Given the description of an element on the screen output the (x, y) to click on. 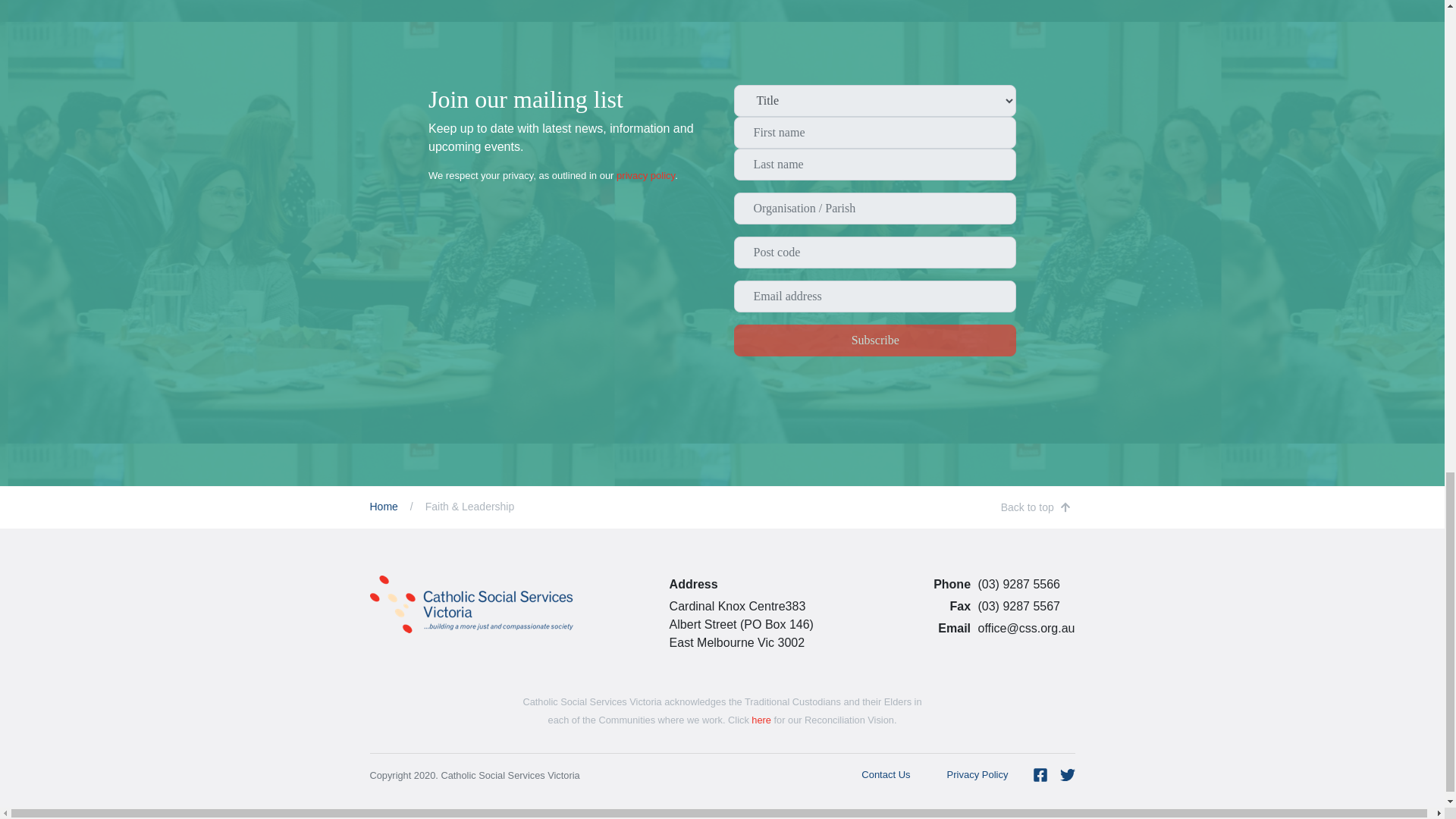
here (761, 719)
Home (383, 507)
Back to top   (1035, 507)
Subscribe (874, 340)
Contact Us (884, 774)
privacy policy (645, 174)
Subscribe (874, 340)
Back to top   (1035, 507)
Back to top   (1035, 507)
